Given the description of an element on the screen output the (x, y) to click on. 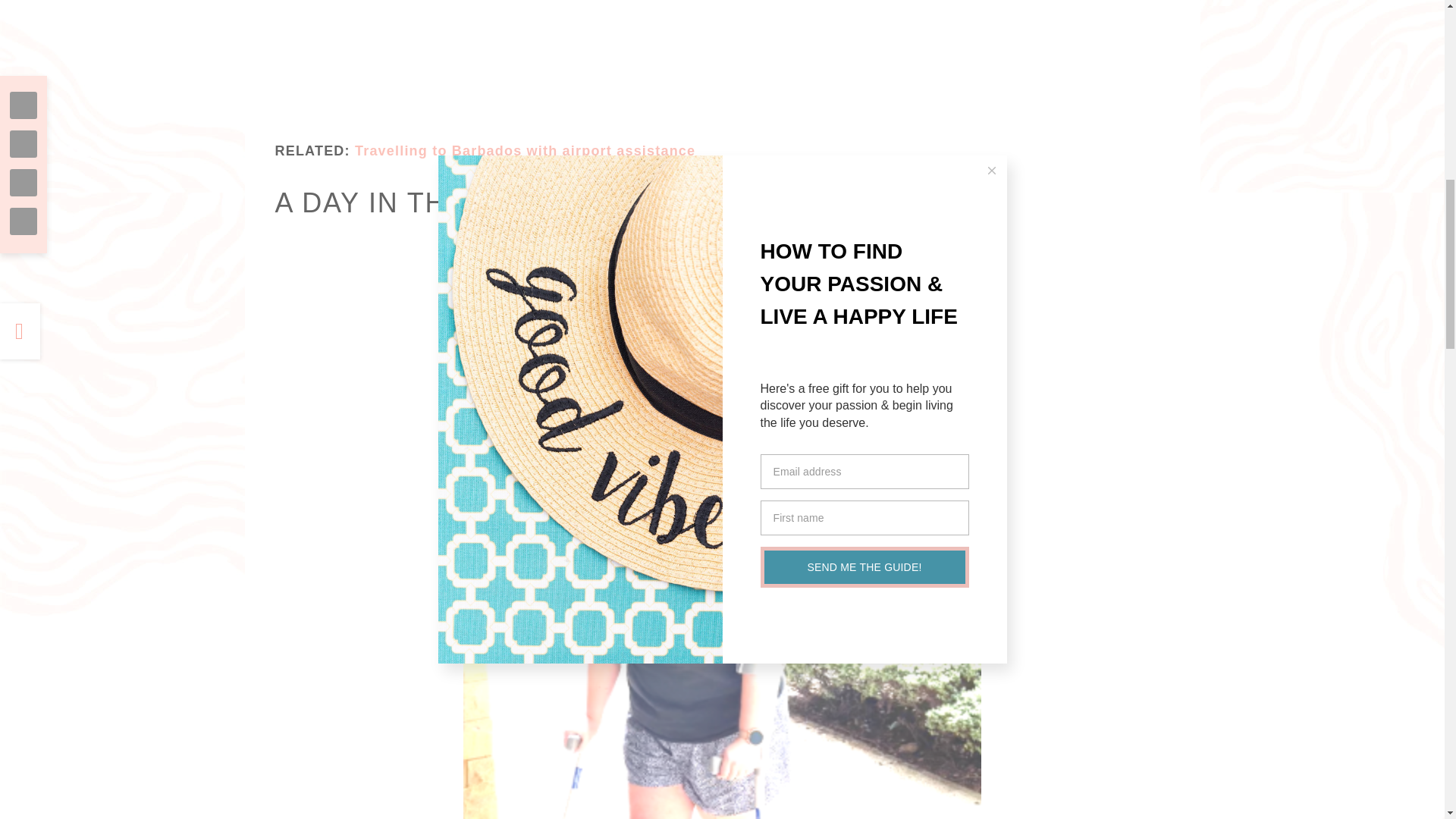
Travelling to Barbados with airport assistance (525, 150)
